Given the description of an element on the screen output the (x, y) to click on. 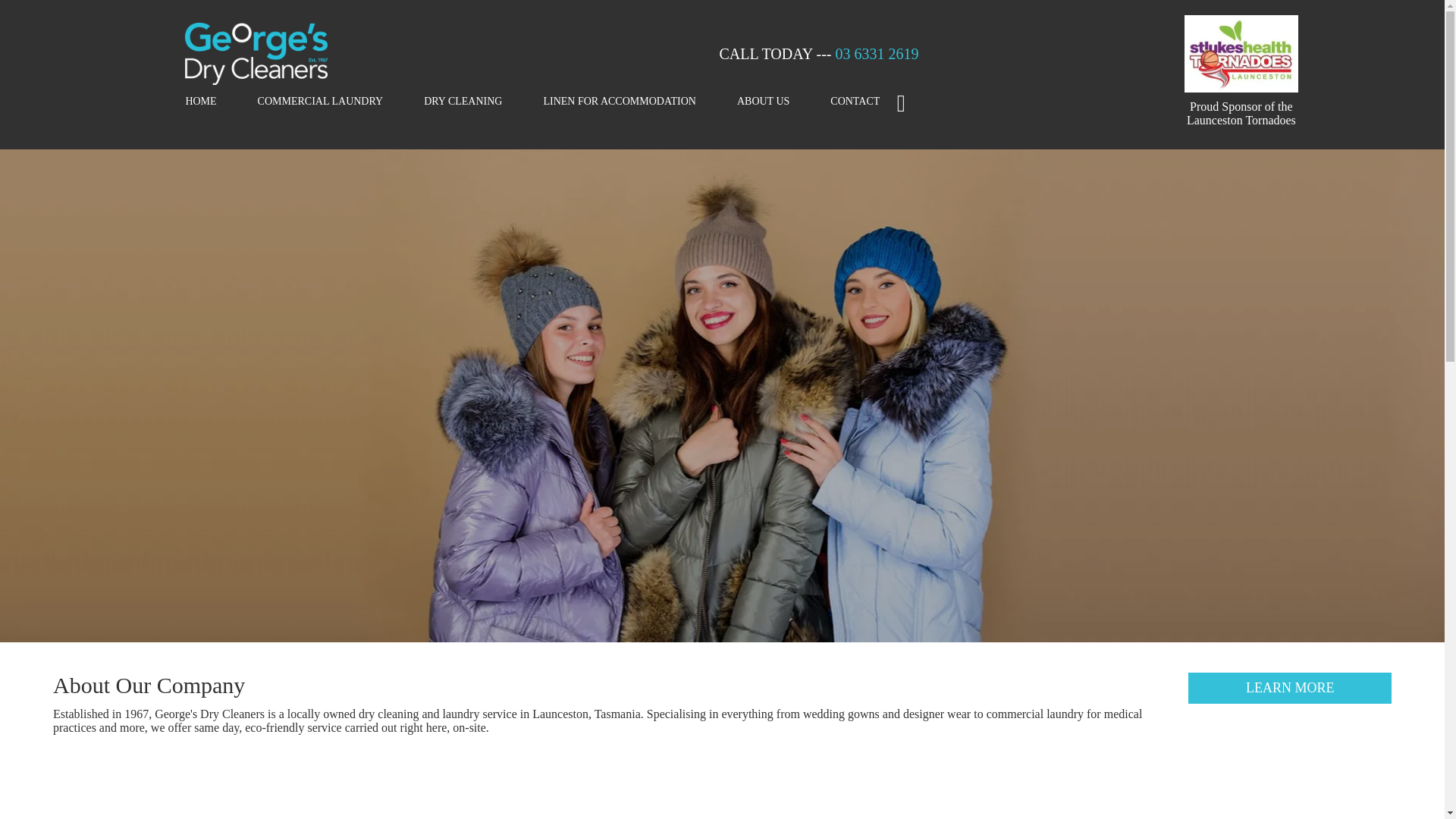
LEARN MORE Element type: text (1289, 687)
ABOUT US Element type: text (763, 102)
COMMERCIAL LAUNDRY Element type: text (320, 102)
03 6331 2619 Element type: text (877, 53)
DRY CLEANING Element type: text (462, 102)
HOME Element type: text (200, 102)
CONTACT Element type: text (854, 102)
LINEN FOR ACCOMMODATION Element type: text (618, 102)
